Given the description of an element on the screen output the (x, y) to click on. 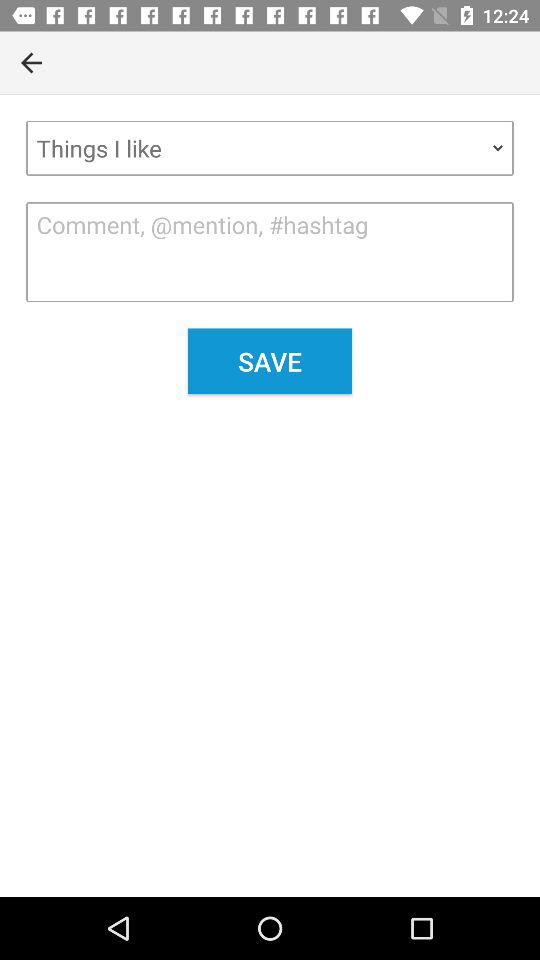
turn off the save item (269, 361)
